Given the description of an element on the screen output the (x, y) to click on. 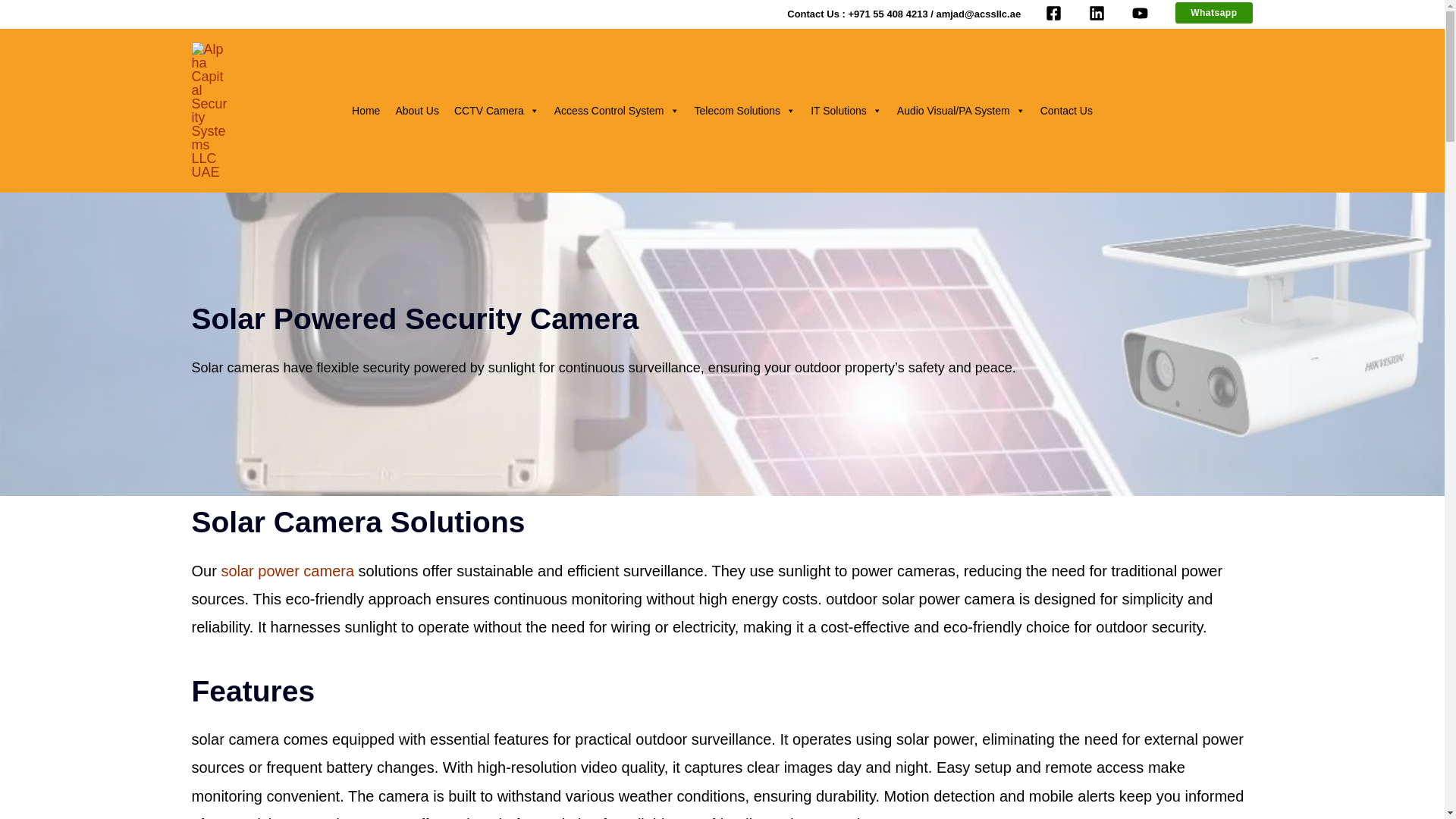
Home (365, 110)
Access Control System (617, 110)
About Us (416, 110)
CCTV Camera (496, 110)
Whatsapp (1213, 12)
